Given the description of an element on the screen output the (x, y) to click on. 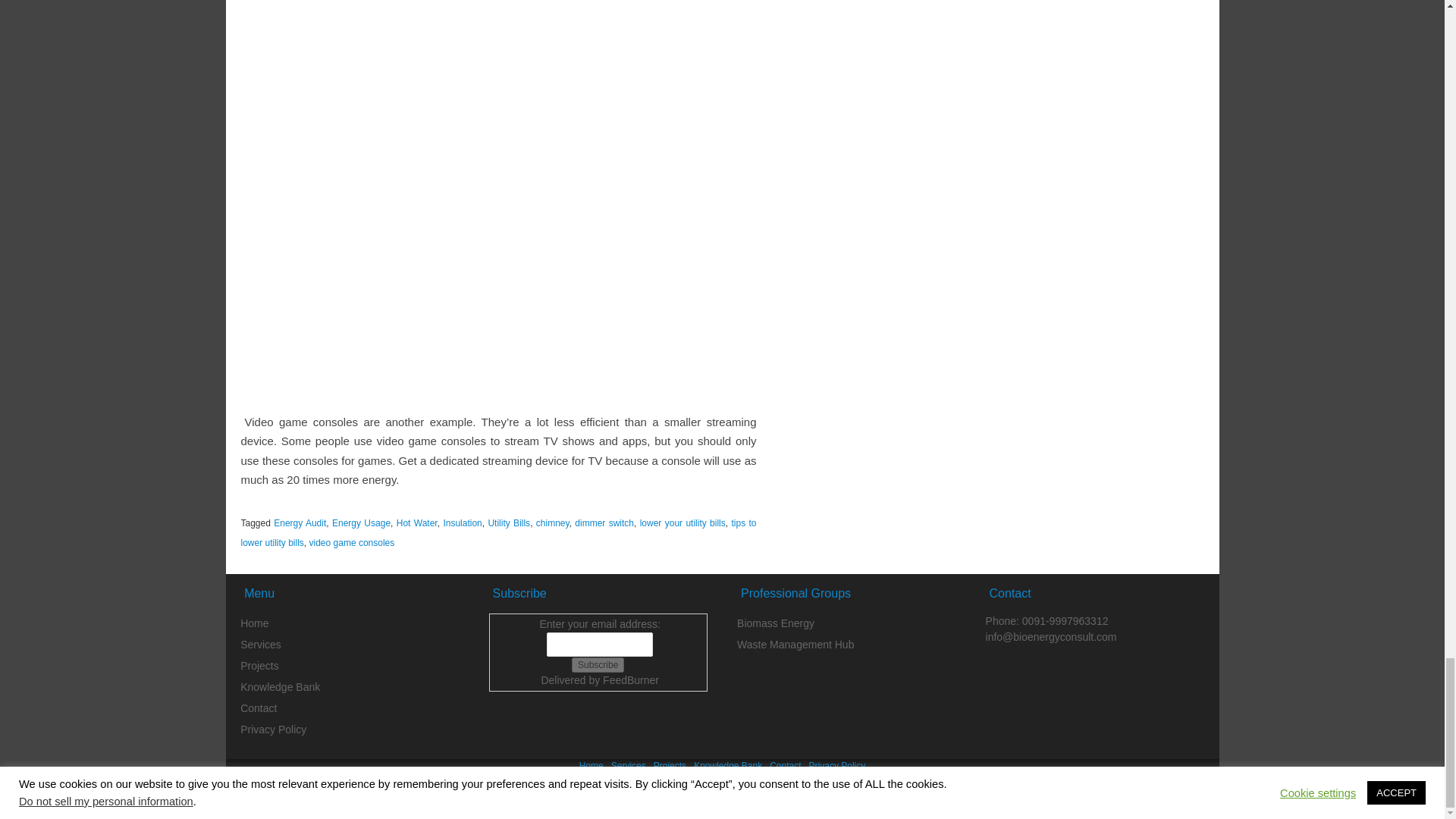
Insulation (461, 522)
chimney (552, 522)
Hot Water (417, 522)
Subscribe (598, 664)
lower your utility bills (682, 522)
Energy Usage (360, 522)
Energy Audit (299, 522)
dimmer switch (604, 522)
Utility Bills (508, 522)
